Given the description of an element on the screen output the (x, y) to click on. 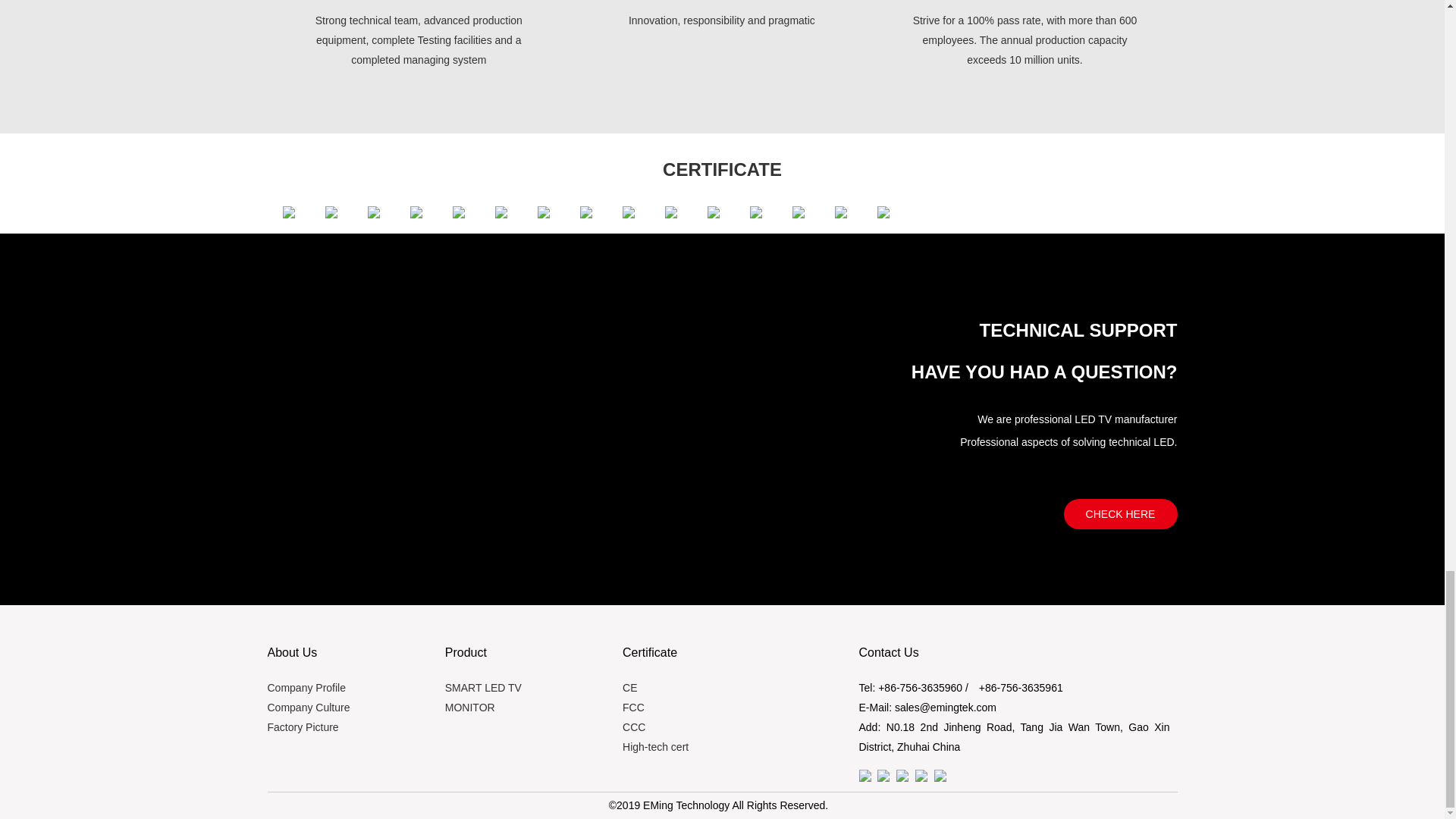
CERTIFICATE (721, 168)
